Given the description of an element on the screen output the (x, y) to click on. 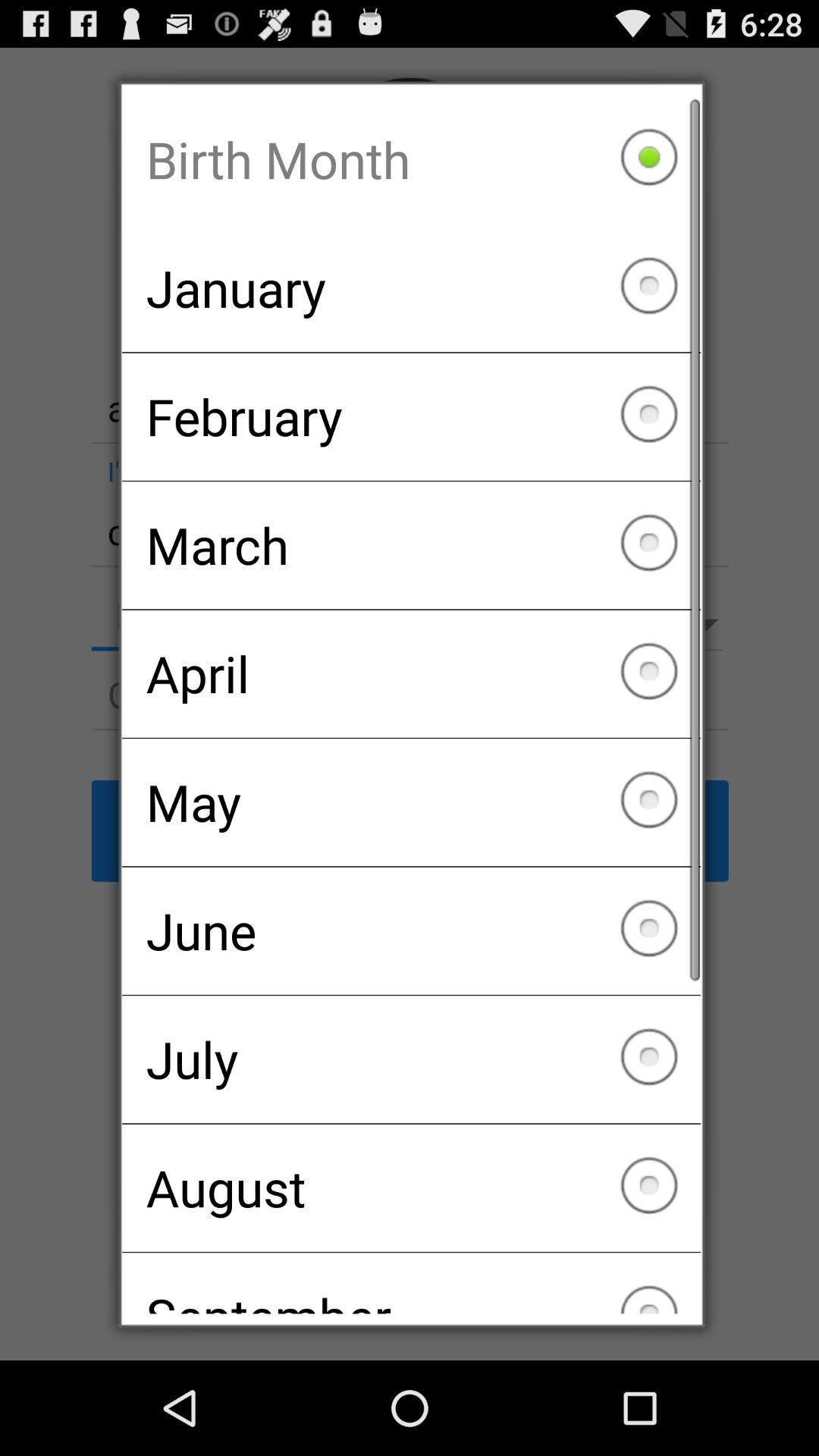
swipe to the january item (411, 288)
